Given the description of an element on the screen output the (x, y) to click on. 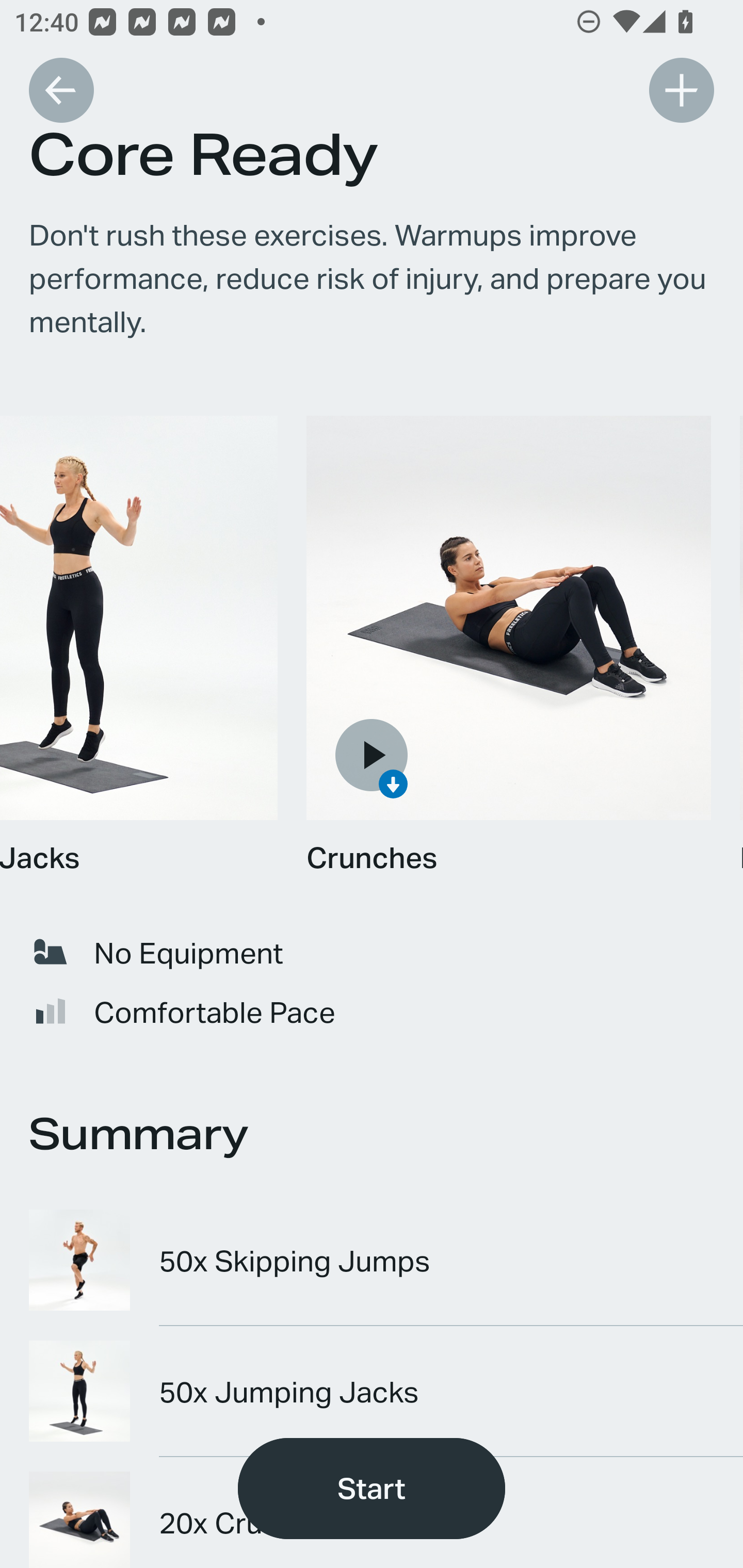
Go back (60, 90)
Log (681, 90)
Start (371, 1488)
